Given the description of an element on the screen output the (x, y) to click on. 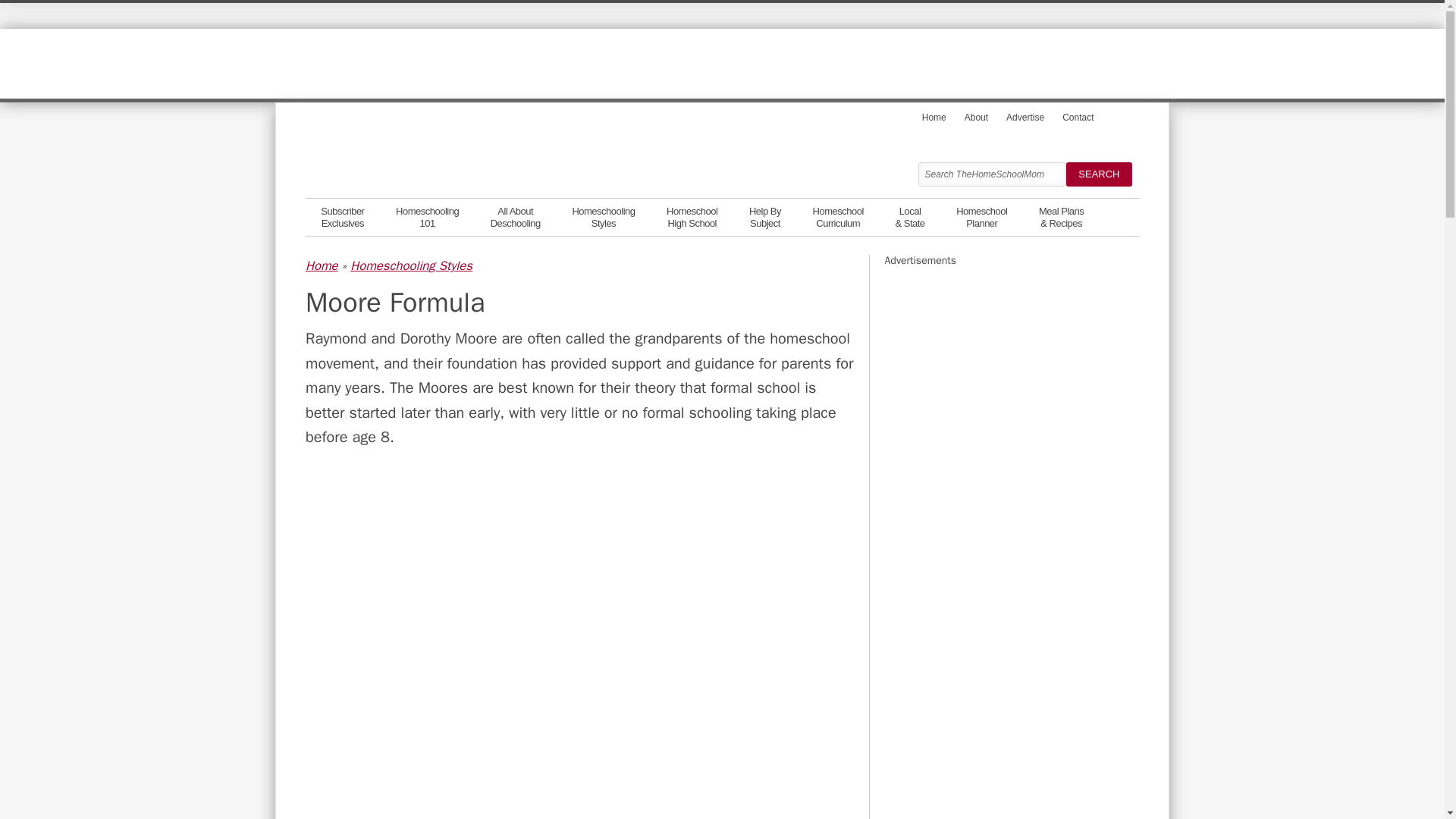
SEARCH (342, 214)
Advertise (603, 214)
About (1098, 174)
Home (1024, 117)
Homeschooling High School (837, 214)
Skip to primary navigation (976, 117)
